Given the description of an element on the screen output the (x, y) to click on. 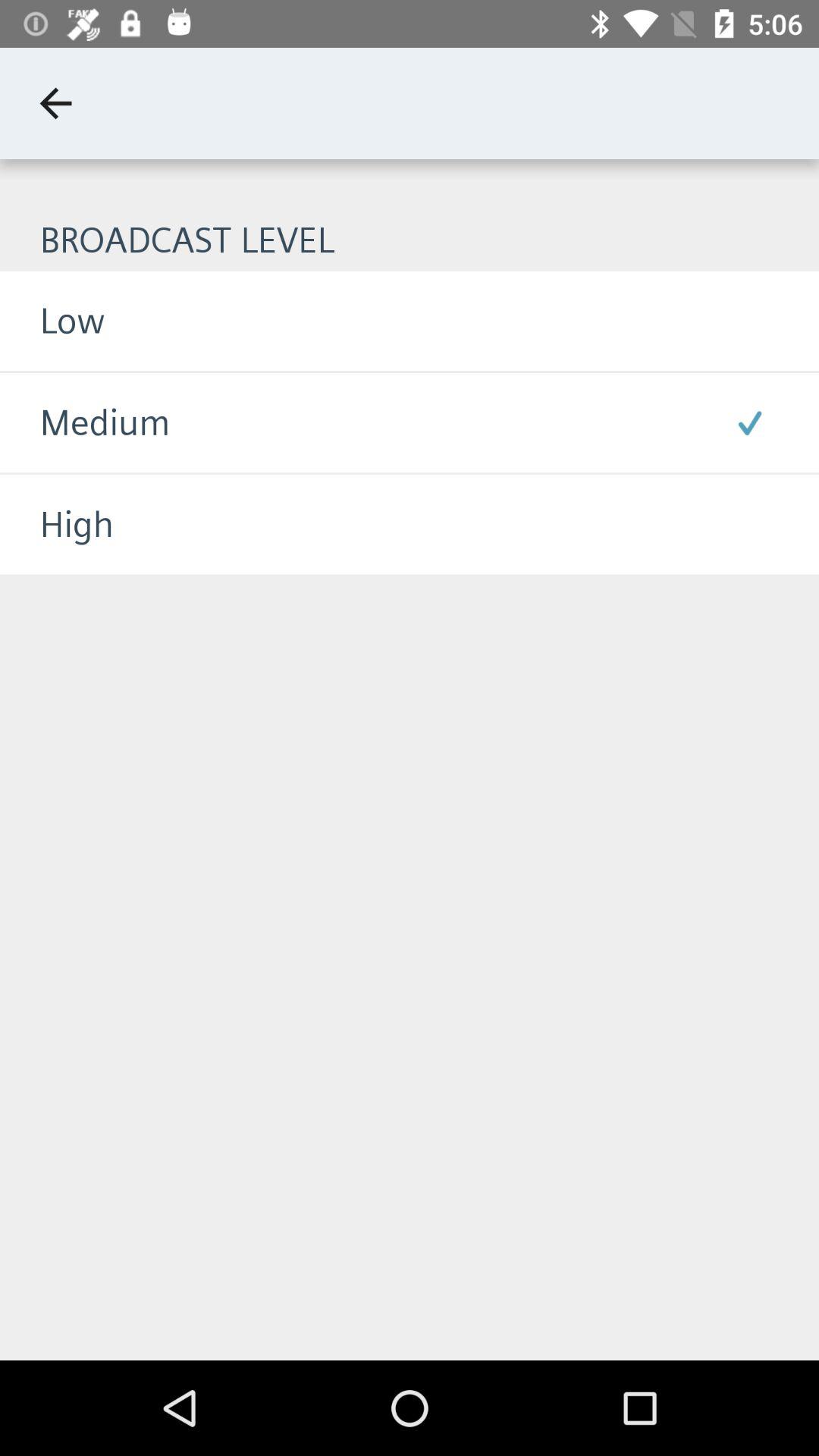
turn off icon above the high icon (85, 422)
